Given the description of an element on the screen output the (x, y) to click on. 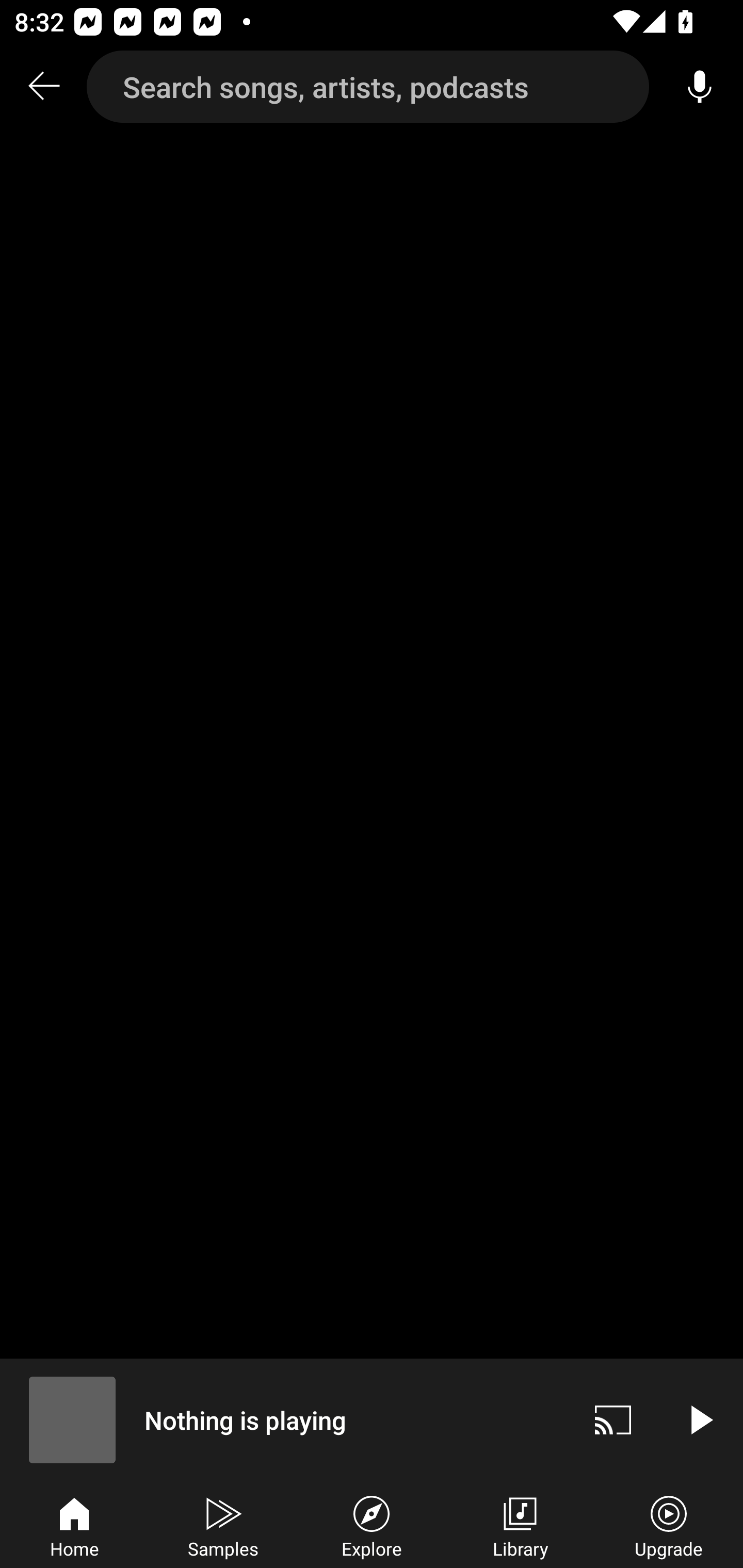
Search back (43, 86)
Search songs, artists, podcasts (367, 86)
Voice search (699, 86)
Nothing is playing (284, 1419)
Cast. Disconnected (612, 1419)
Play video (699, 1419)
Home (74, 1524)
Samples (222, 1524)
Explore (371, 1524)
Library (519, 1524)
Upgrade (668, 1524)
